Given the description of an element on the screen output the (x, y) to click on. 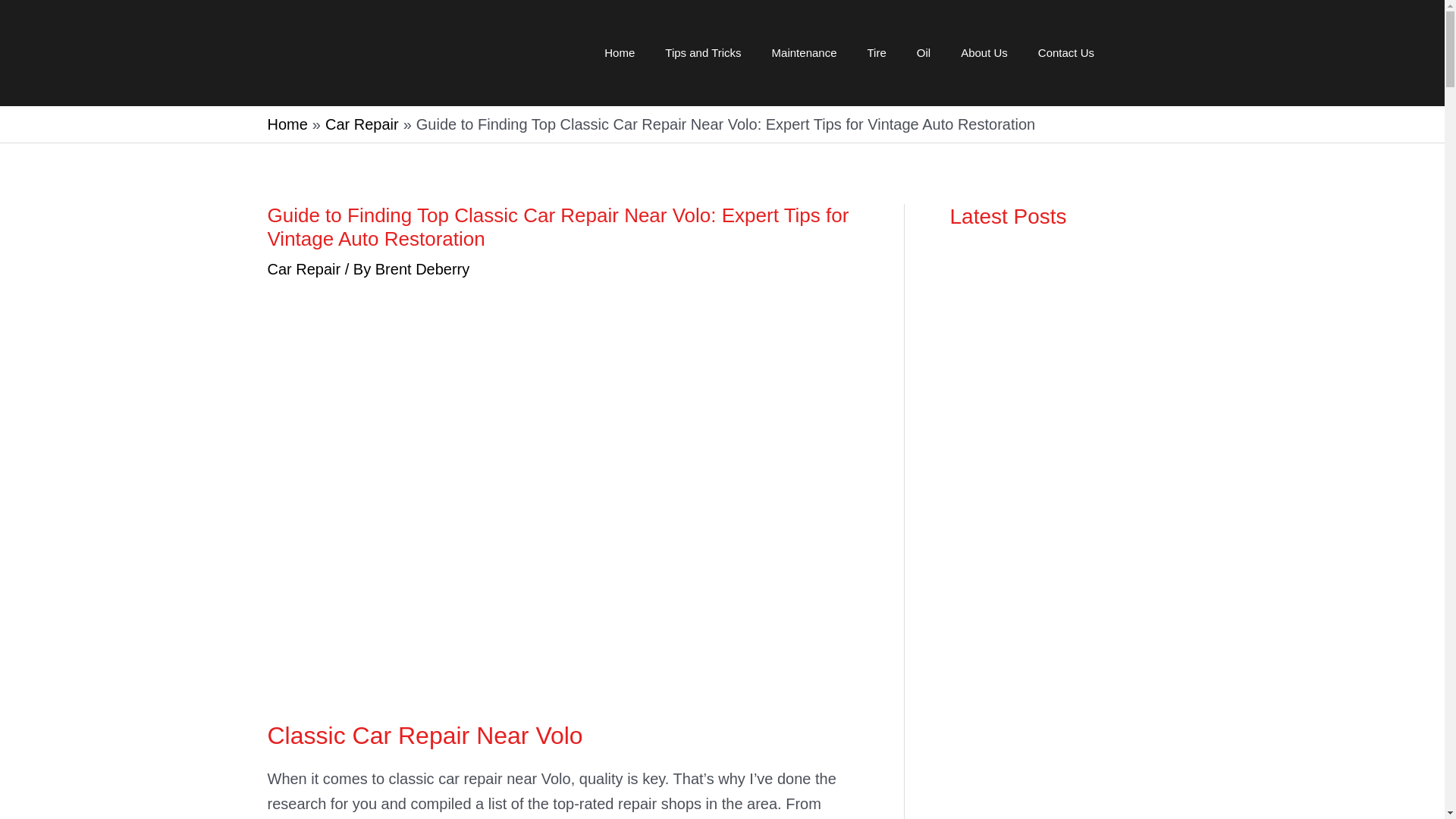
Home (619, 52)
Contact Us (1066, 52)
Maintenance (804, 52)
Home (286, 124)
View all posts by Brent Deberry (422, 269)
Oil (922, 52)
Car Repair (303, 269)
Car Repair (361, 124)
Brent Deberry (422, 269)
Tips and Tricks (702, 52)
